Given the description of an element on the screen output the (x, y) to click on. 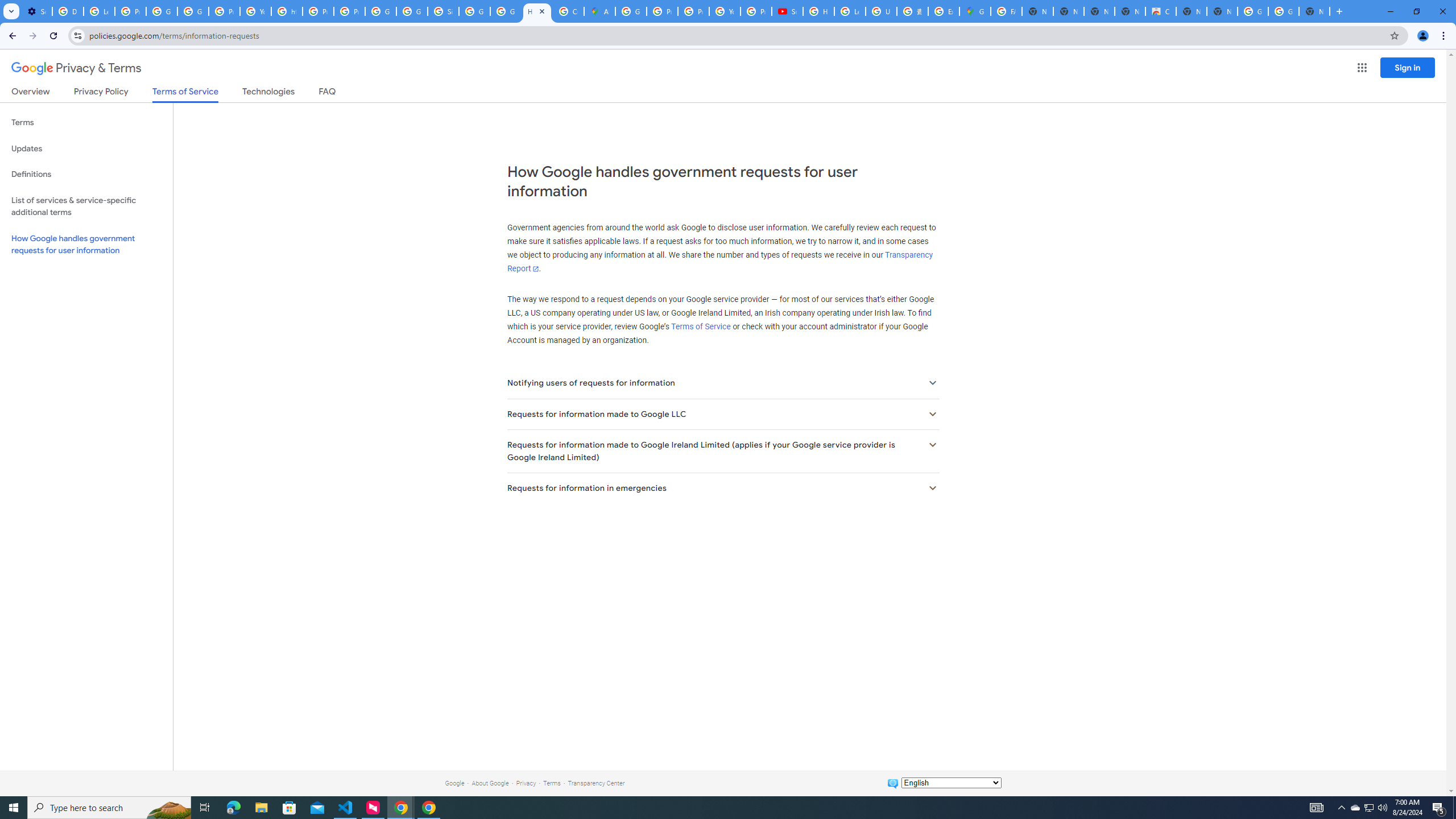
Google Maps (974, 11)
Sign in - Google Accounts (443, 11)
